Given the description of an element on the screen output the (x, y) to click on. 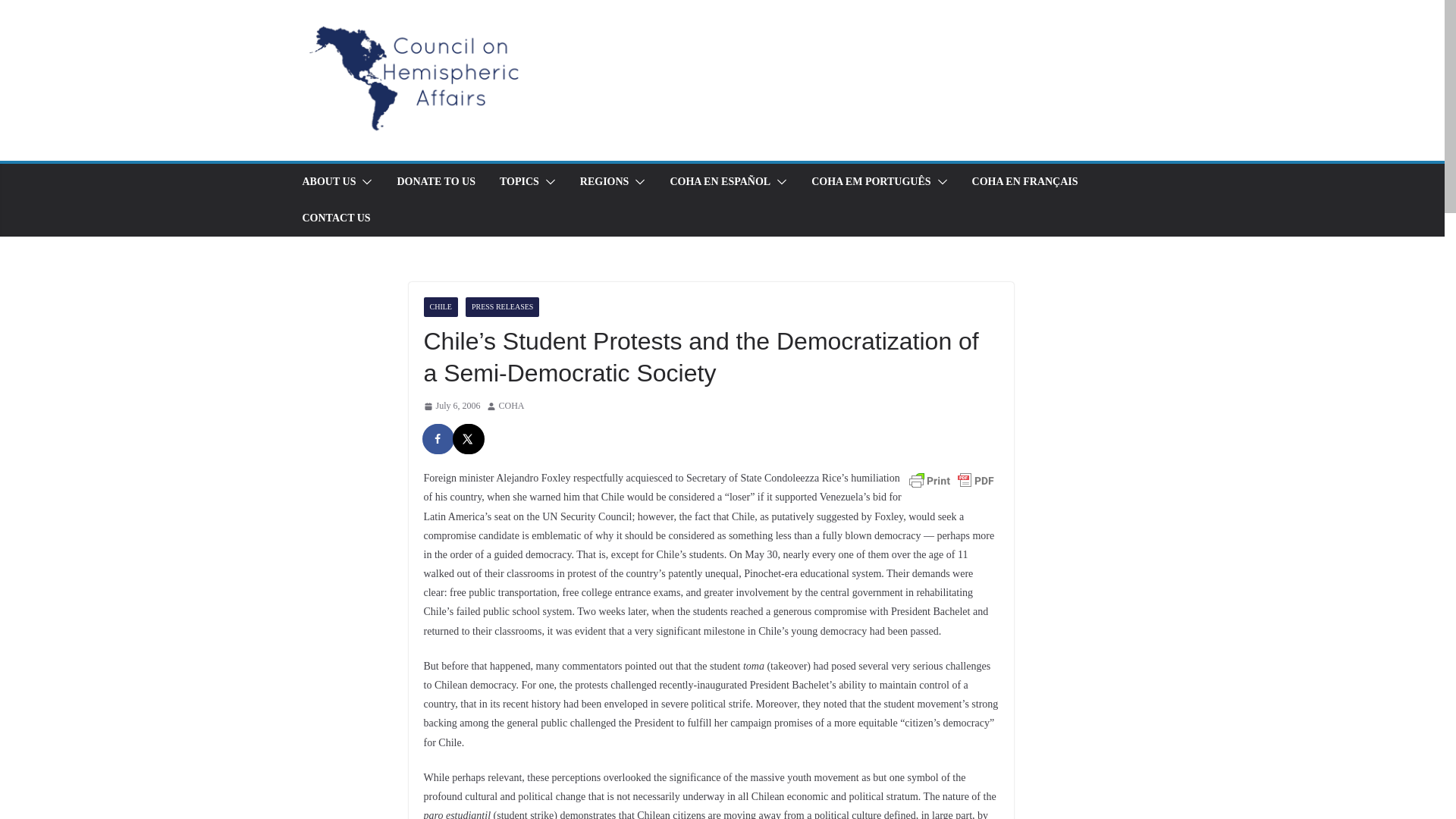
TOPICS (518, 181)
11:54 am (451, 406)
ABOUT US (328, 181)
DONATE TO US (435, 181)
REGIONS (603, 181)
COHA (511, 406)
Share on Facebook (437, 439)
Share on X (467, 439)
